Given the description of an element on the screen output the (x, y) to click on. 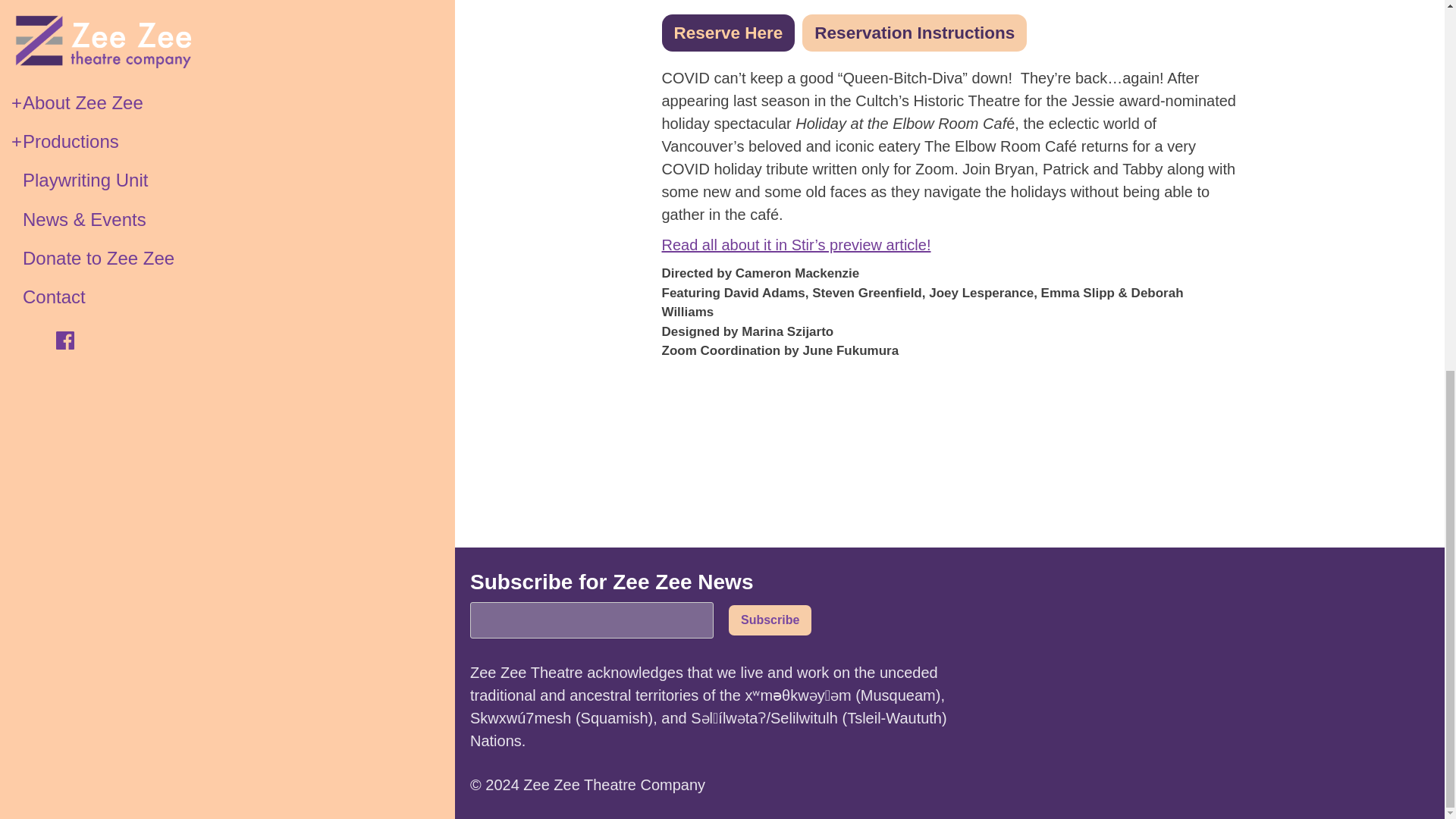
Subscribe (769, 620)
